Given the description of an element on the screen output the (x, y) to click on. 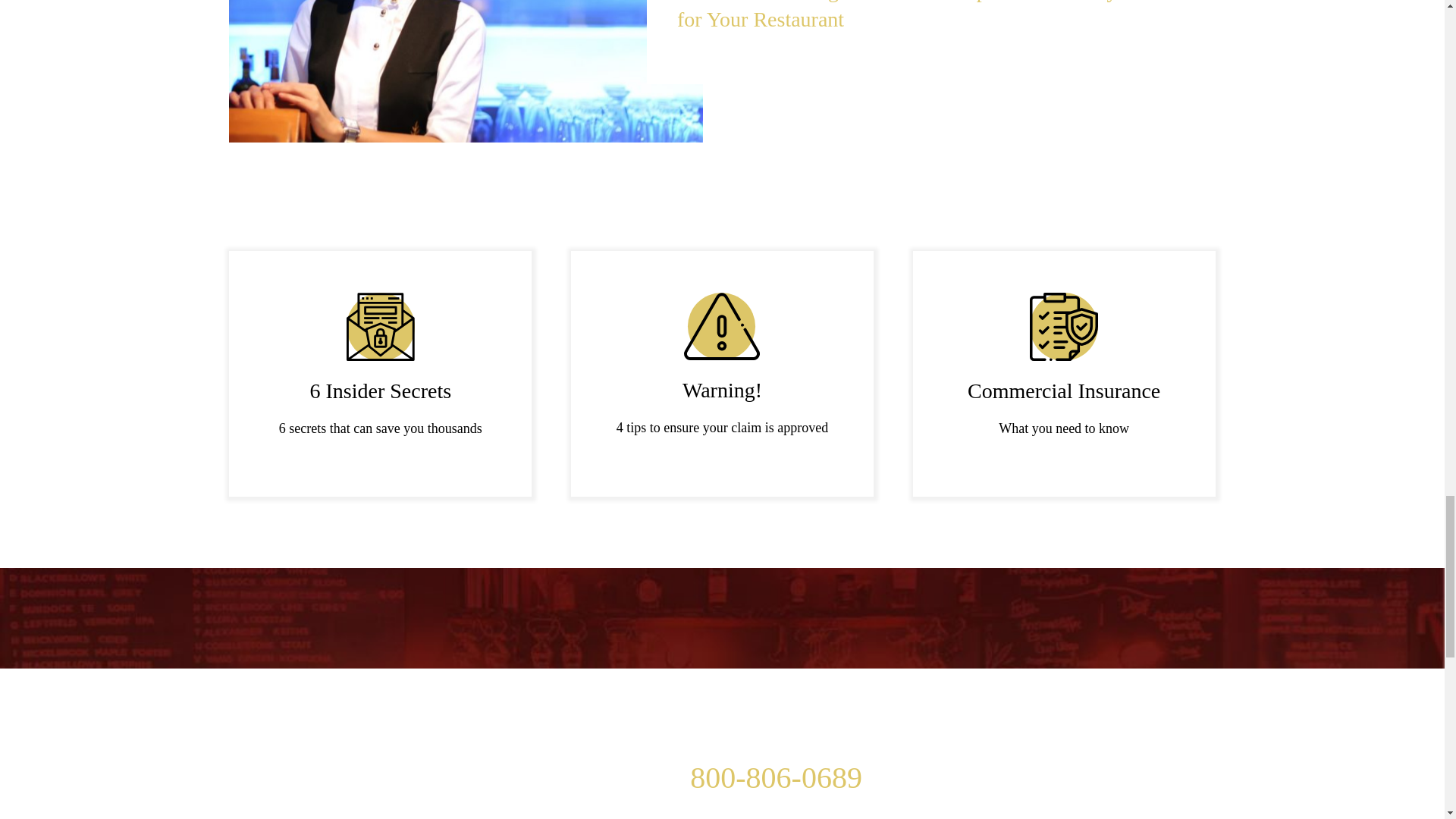
icon-warning (722, 326)
icon-insider-secrets (380, 326)
icon-commercial-insurance (1063, 326)
